Given the description of an element on the screen output the (x, y) to click on. 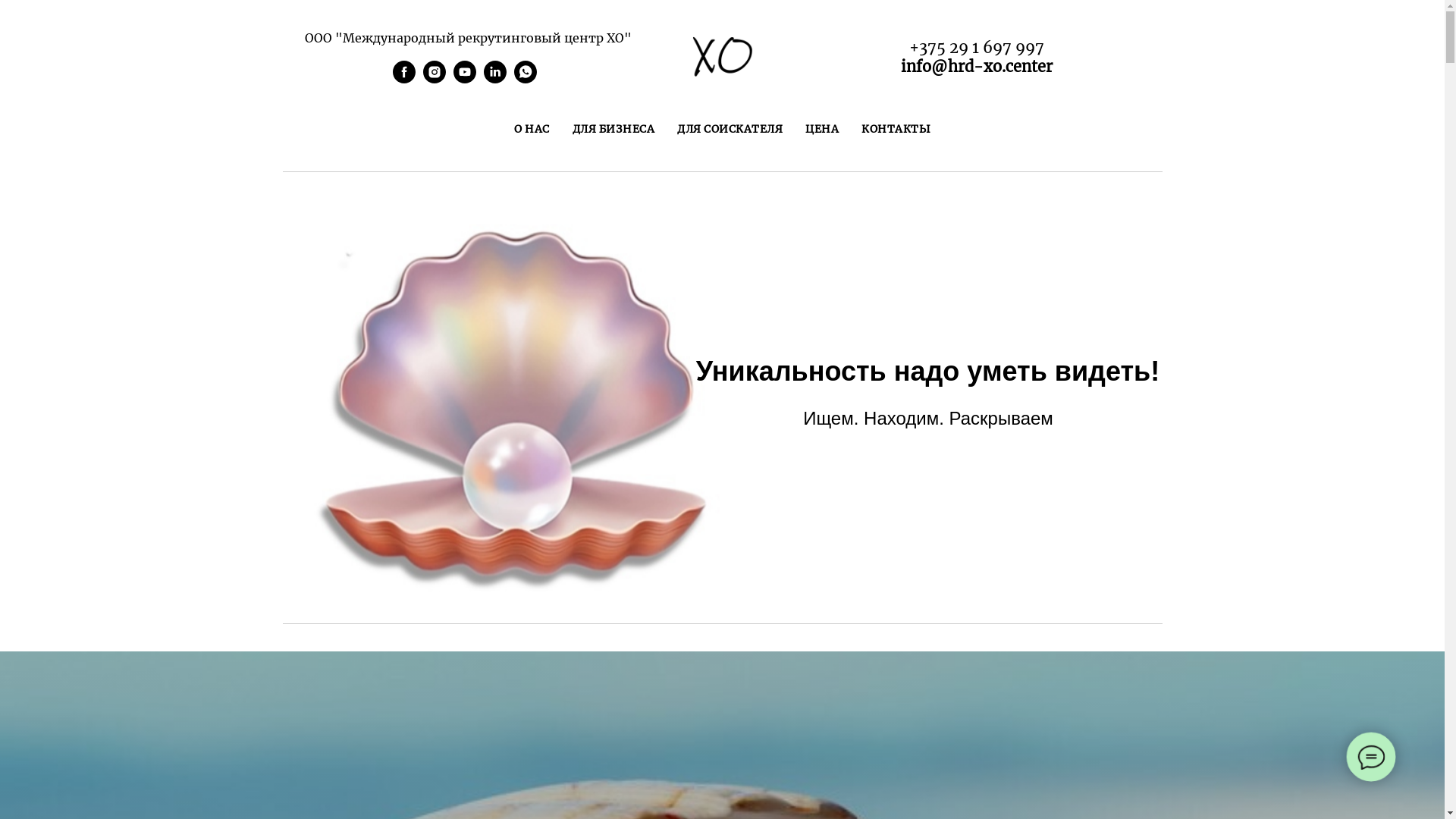
info@hrd-xo.center Element type: text (976, 65)
